Given the description of an element on the screen output the (x, y) to click on. 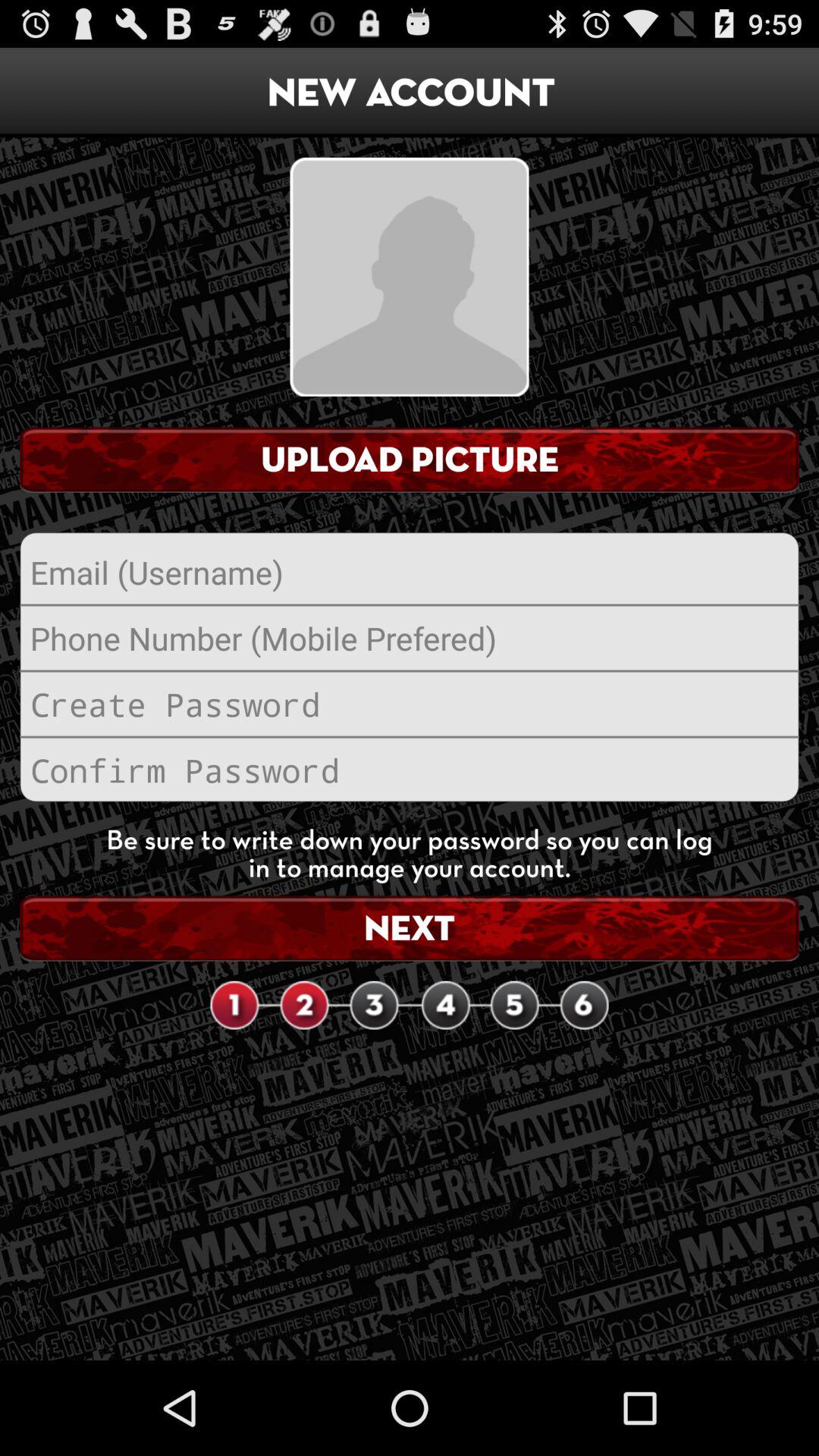
turn on the upload picture item (409, 459)
